Given the description of an element on the screen output the (x, y) to click on. 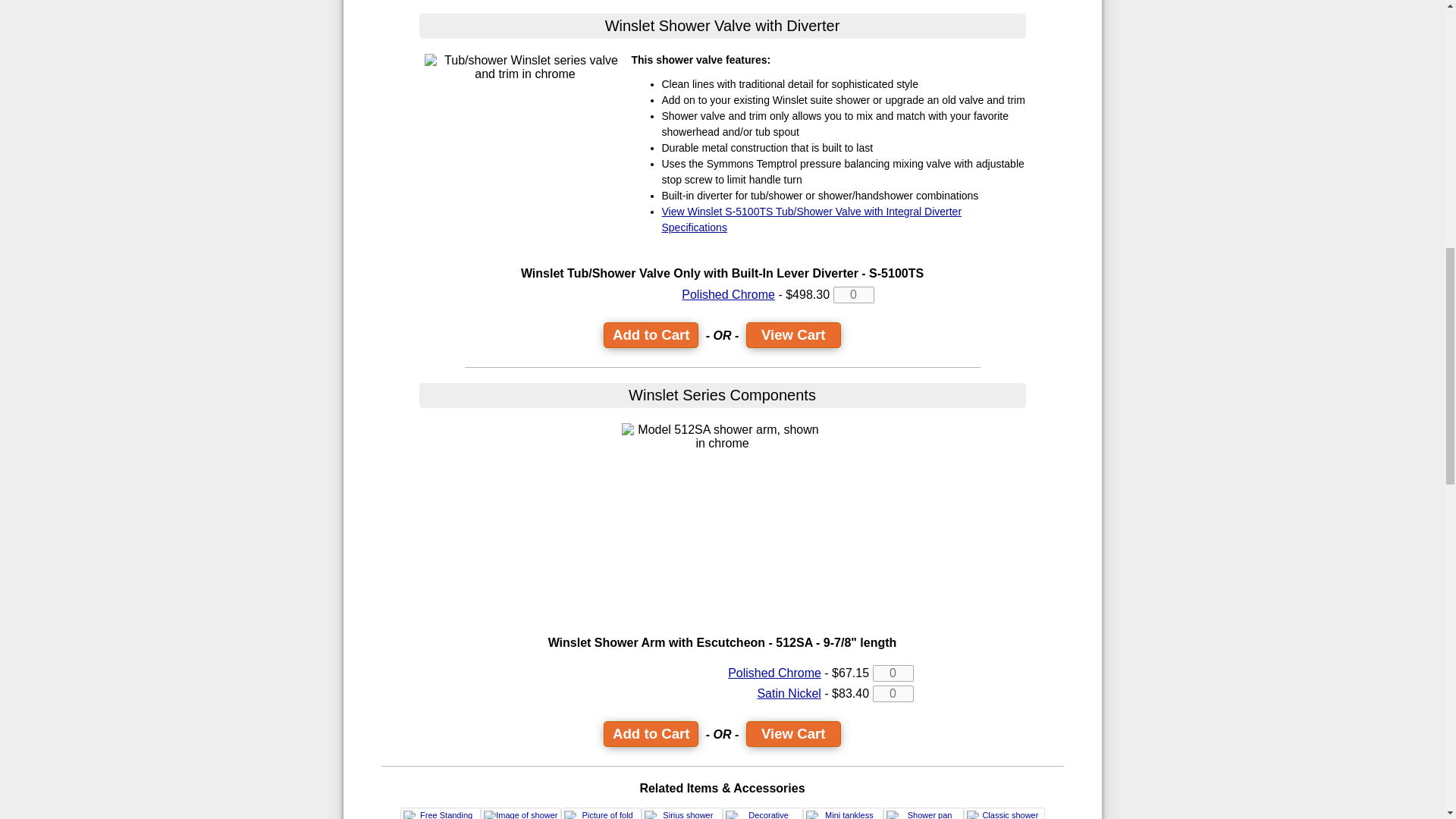
Add to Cart (651, 733)
Click here to add items to your shopping cart (651, 335)
Add to Cart (651, 335)
